Given the description of an element on the screen output the (x, y) to click on. 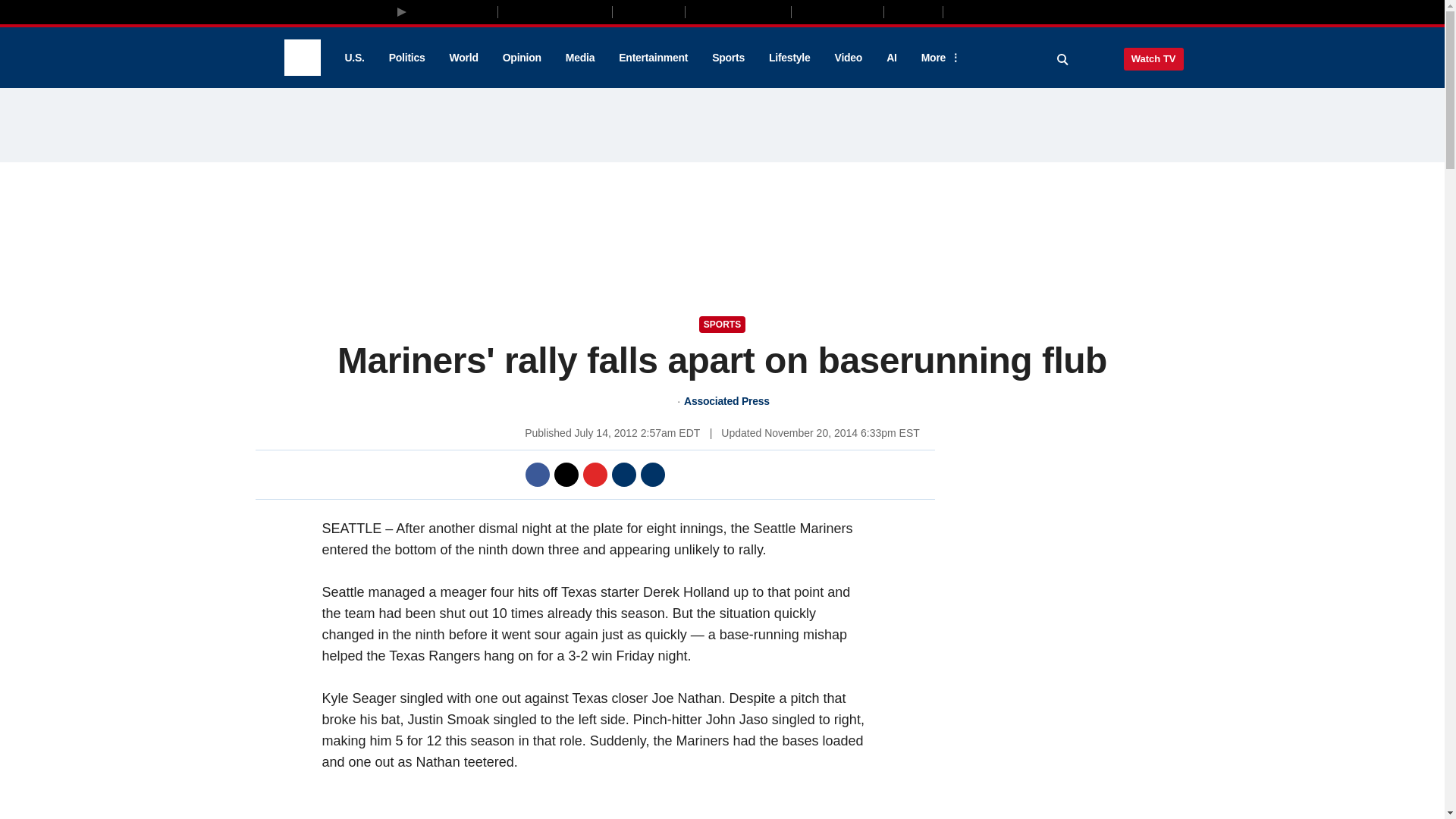
Entertainment (653, 57)
World (464, 57)
Lifestyle (789, 57)
Politics (407, 57)
U.S. (353, 57)
Fox News (301, 57)
Fox Weather (836, 11)
Books (1007, 11)
Outkick (912, 11)
Fox News Media (453, 11)
